Given the description of an element on the screen output the (x, y) to click on. 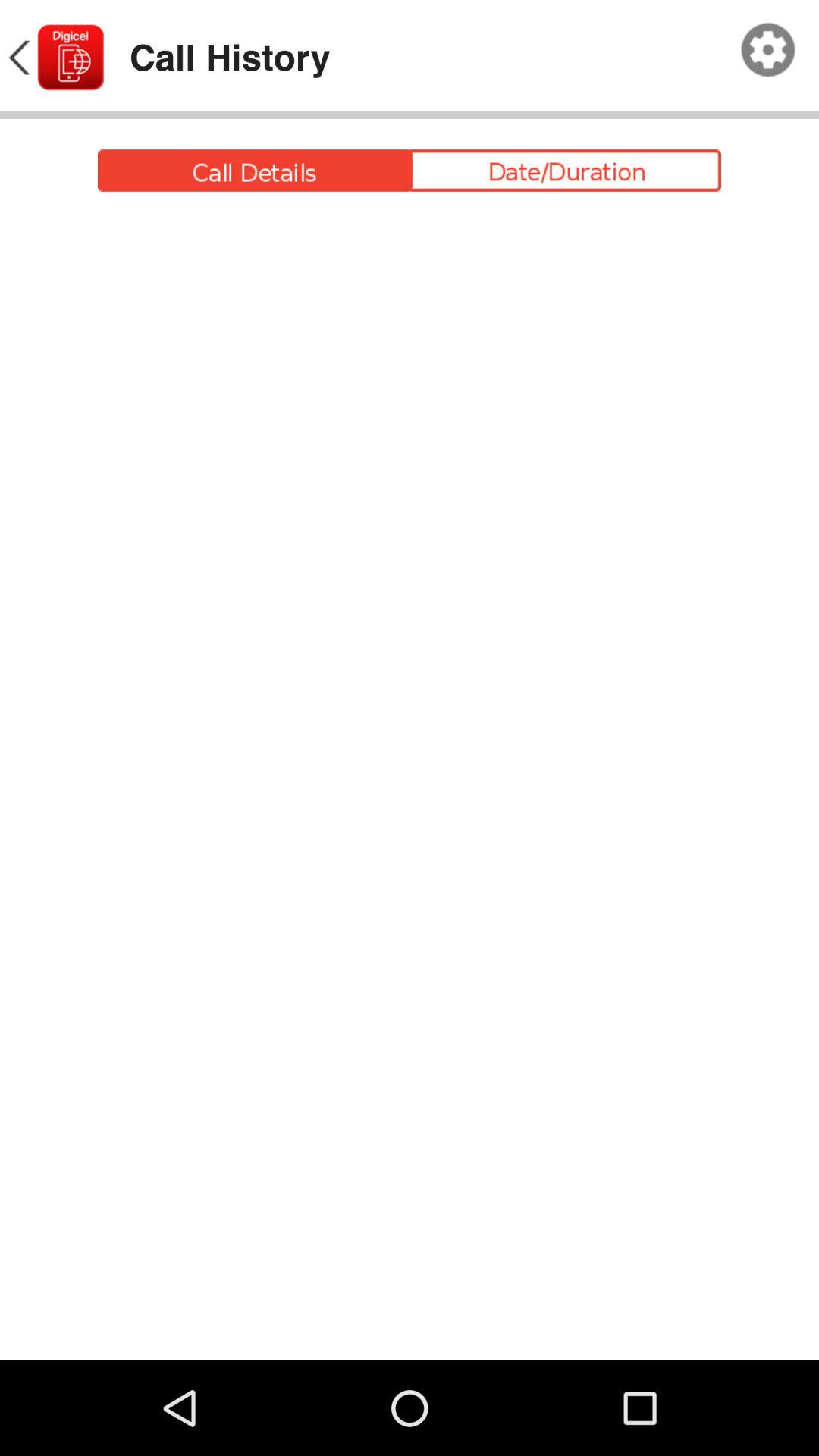
press the item to the right of call history app (768, 49)
